Given the description of an element on the screen output the (x, y) to click on. 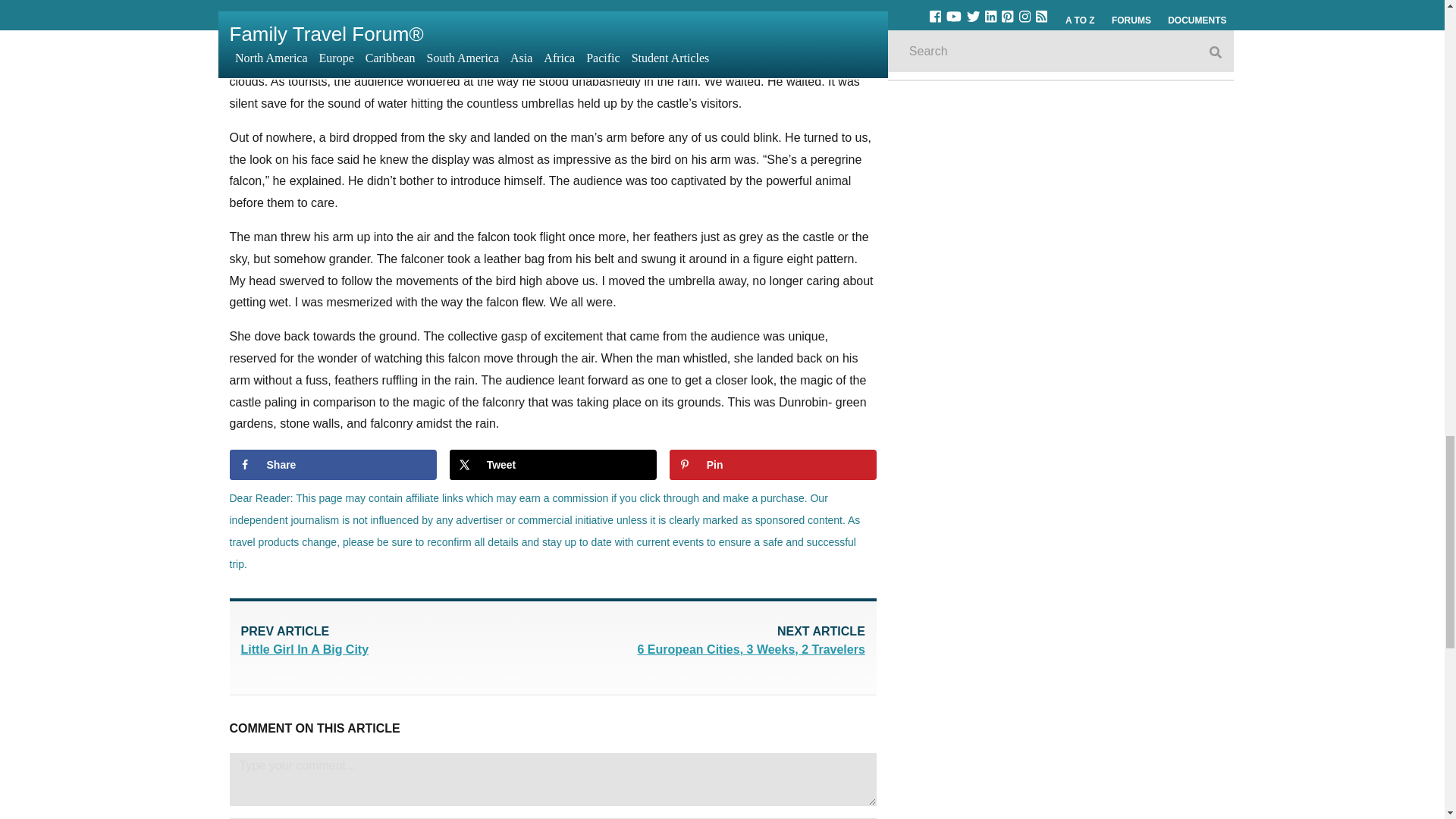
Pin (772, 464)
Share on Facebook (331, 464)
Share on X (552, 464)
Tweet (710, 642)
Save to Pinterest (552, 464)
Share (772, 464)
